Given the description of an element on the screen output the (x, y) to click on. 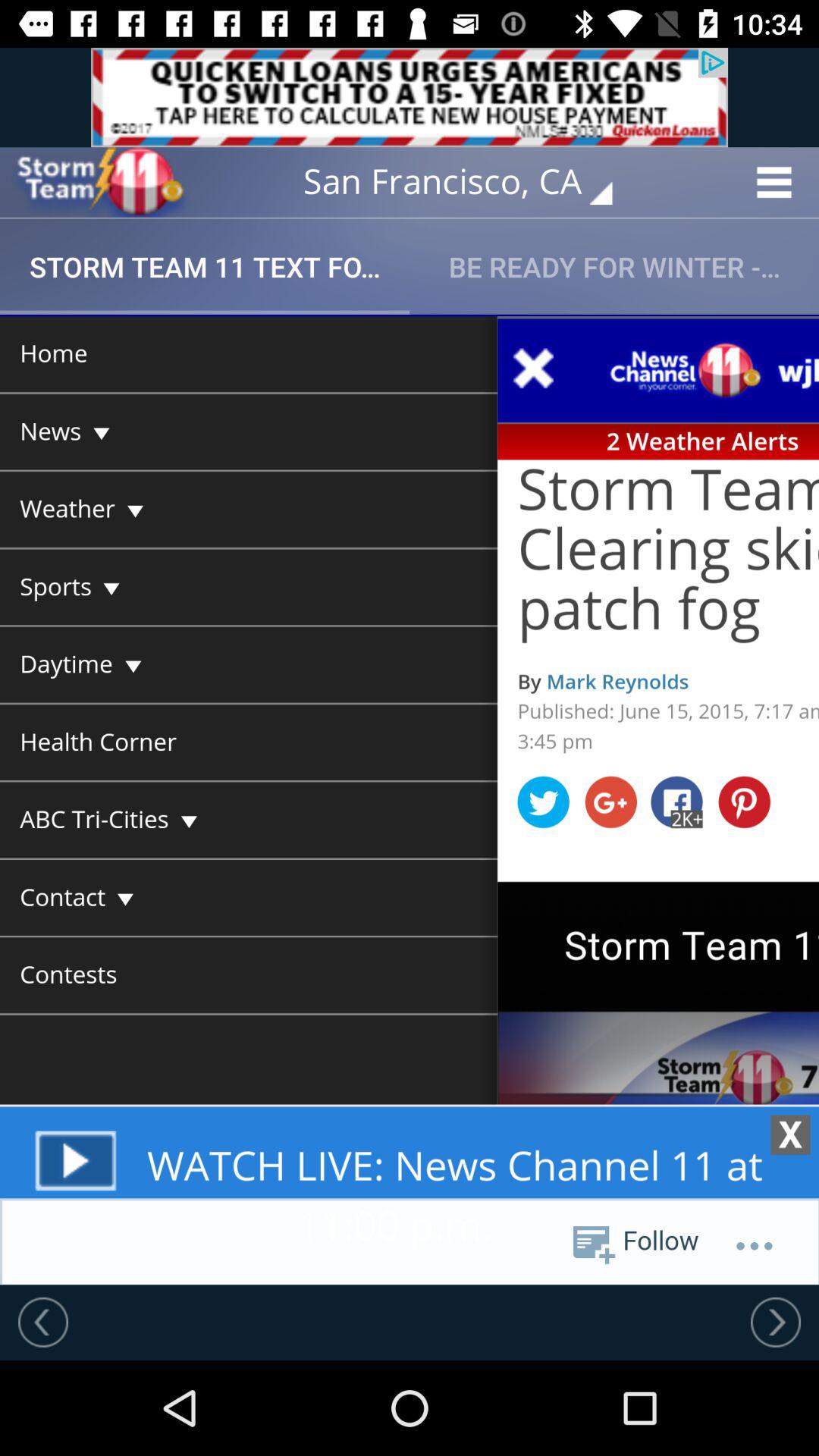
go to storm team 11 homepage (99, 182)
